Given the description of an element on the screen output the (x, y) to click on. 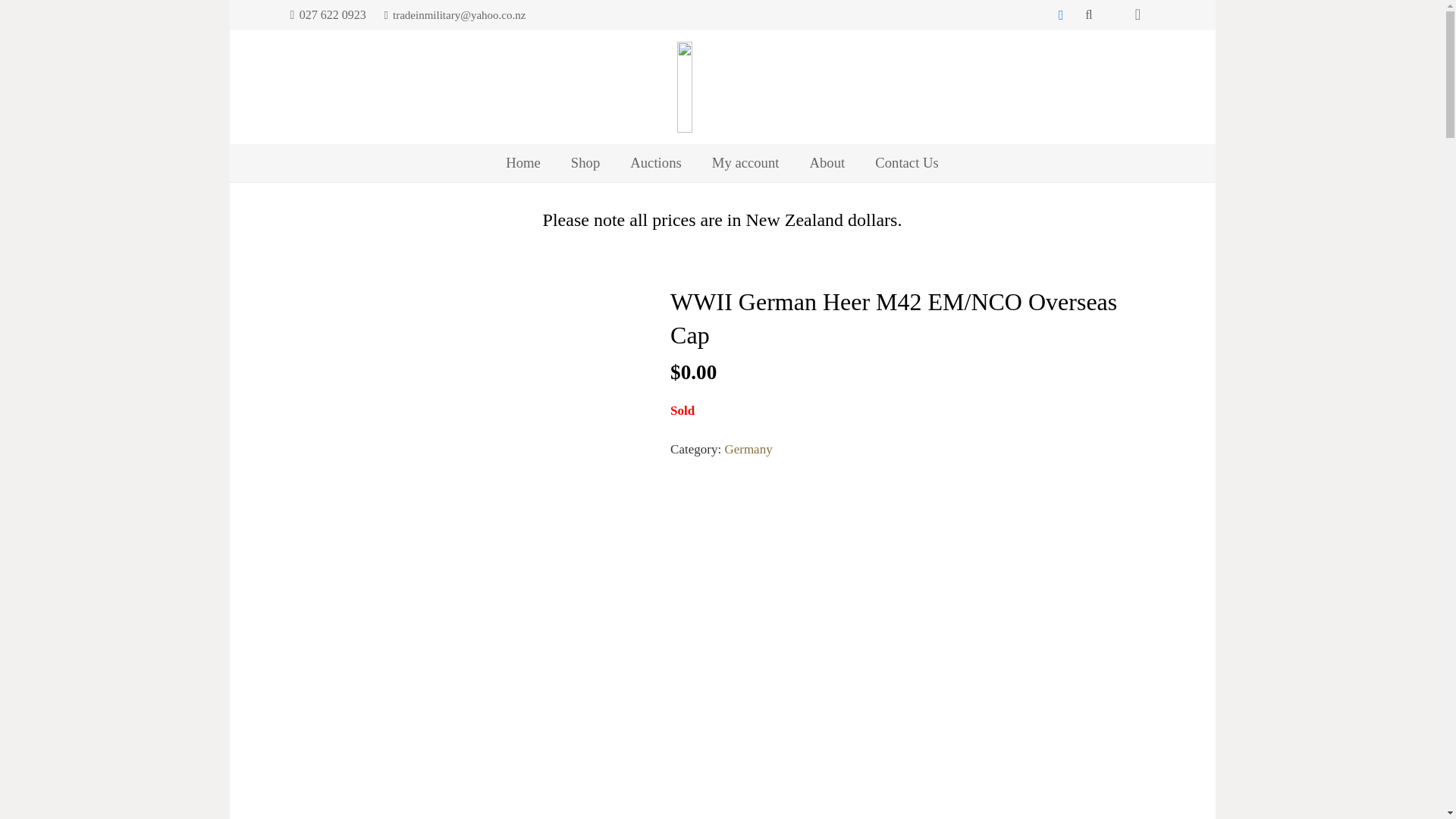
Facebook (1060, 14)
Auctions (654, 162)
About (827, 162)
My account (745, 162)
Germany (747, 449)
Home (523, 162)
Contact Us (906, 162)
Shop (585, 162)
